Given the description of an element on the screen output the (x, y) to click on. 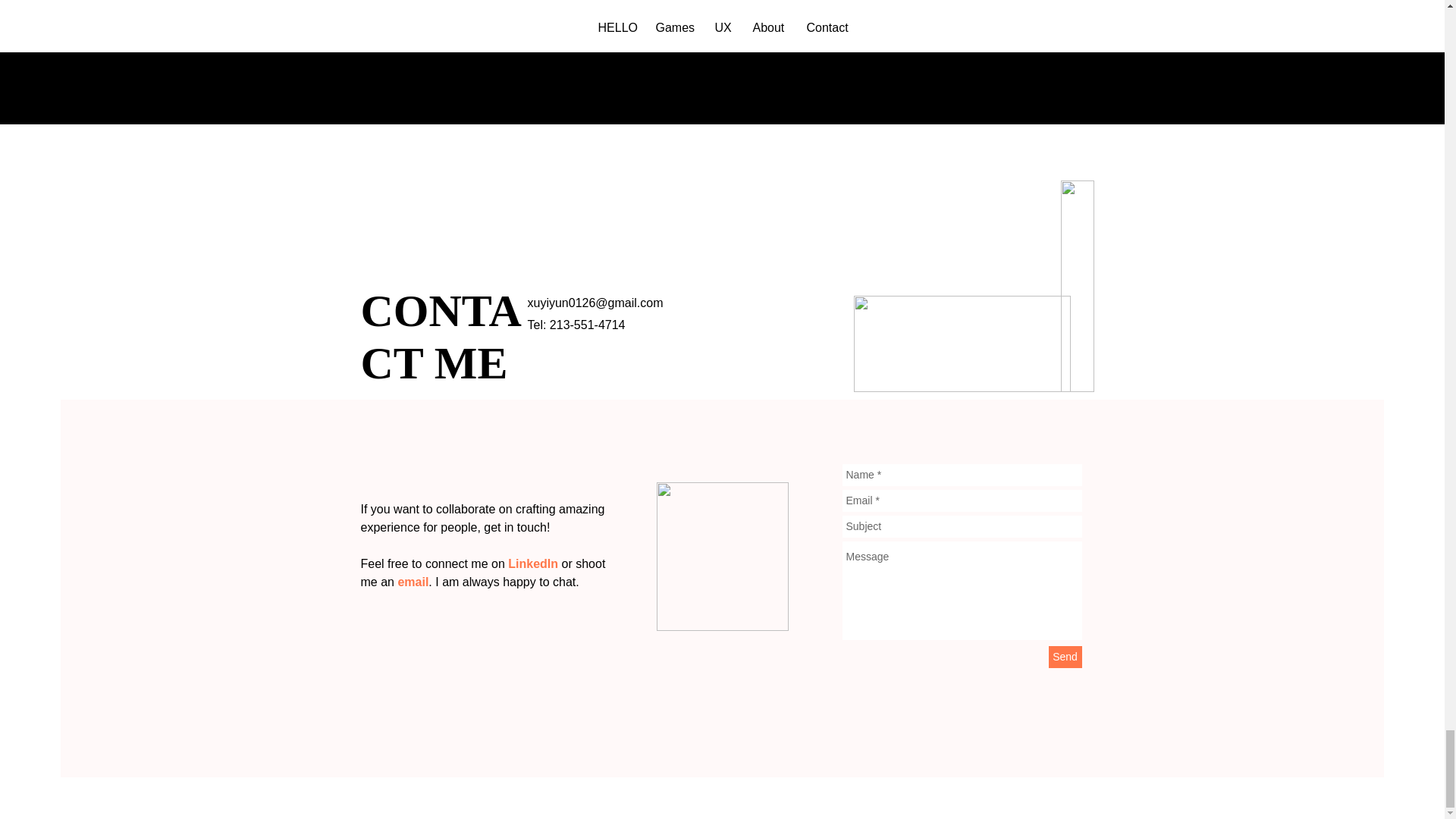
LinkedIn (532, 563)
email (412, 581)
Send (1064, 657)
